Given the description of an element on the screen output the (x, y) to click on. 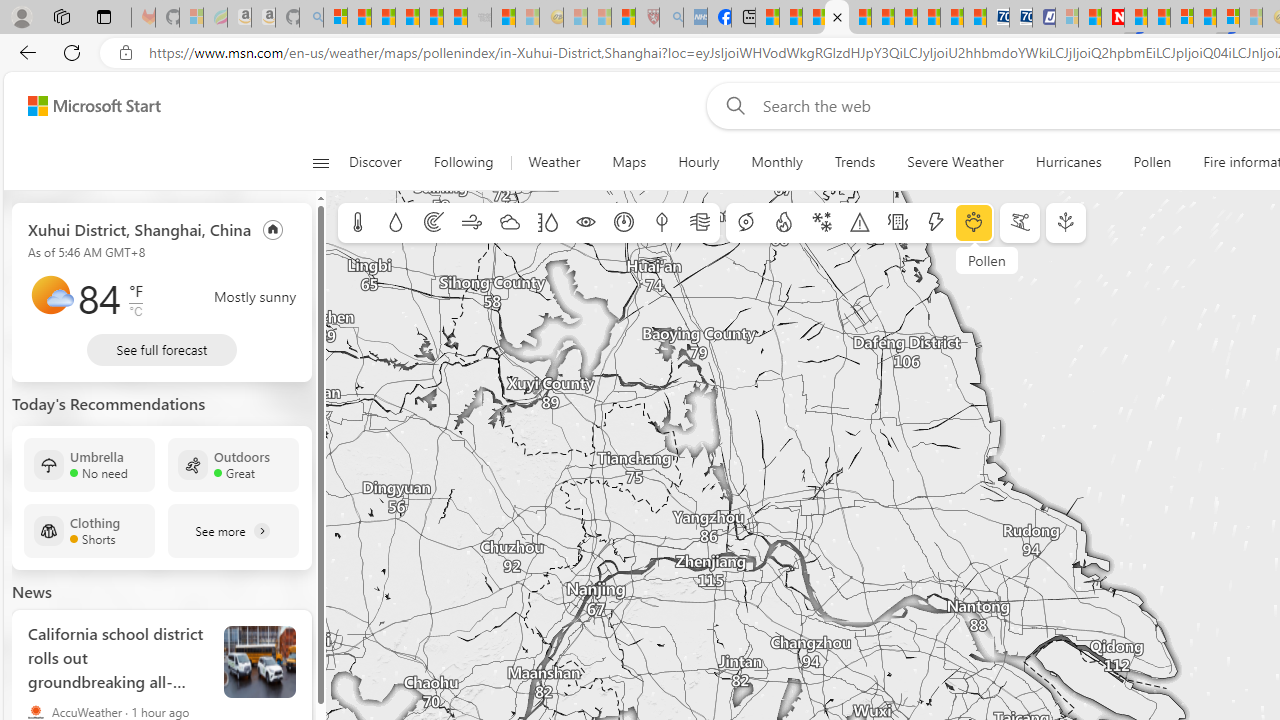
Earthquake (898, 223)
Local - MSN (622, 17)
Pollen (1152, 162)
Umbrella No need (89, 464)
